Given the description of an element on the screen output the (x, y) to click on. 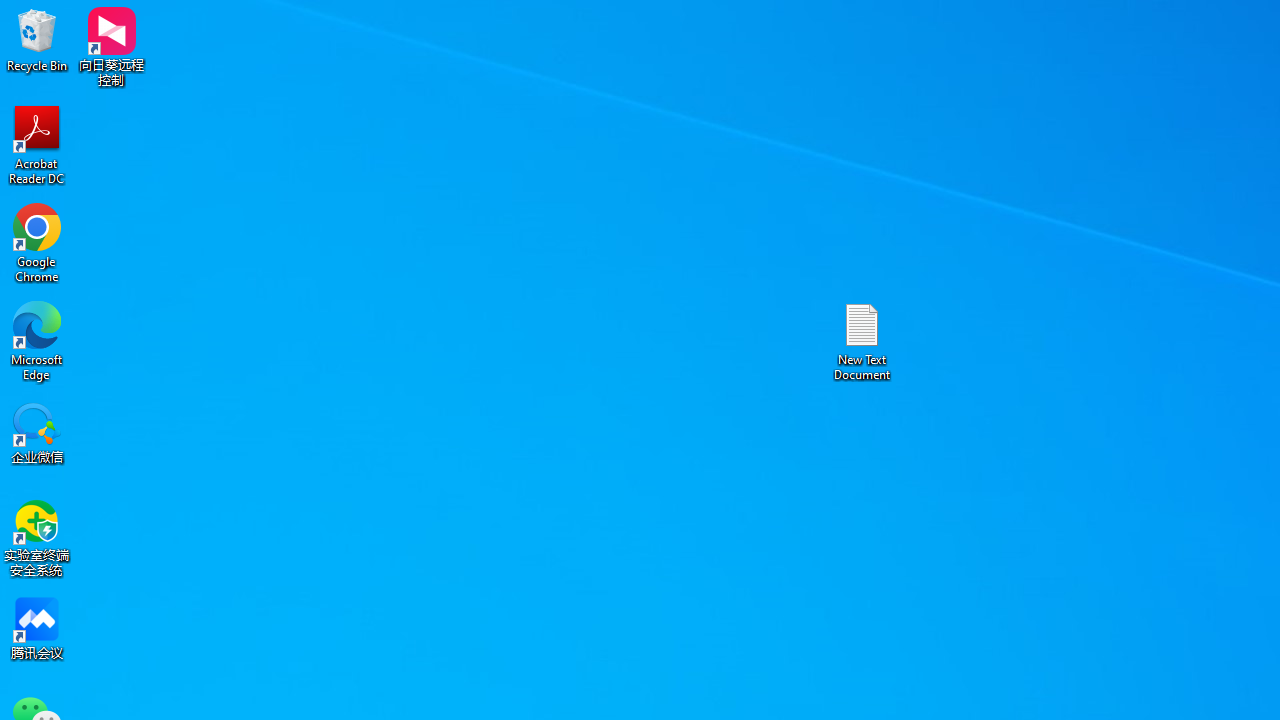
Google Chrome (37, 242)
Microsoft Edge (37, 340)
Recycle Bin (37, 39)
Acrobat Reader DC (37, 144)
New Text Document (861, 340)
